Given the description of an element on the screen output the (x, y) to click on. 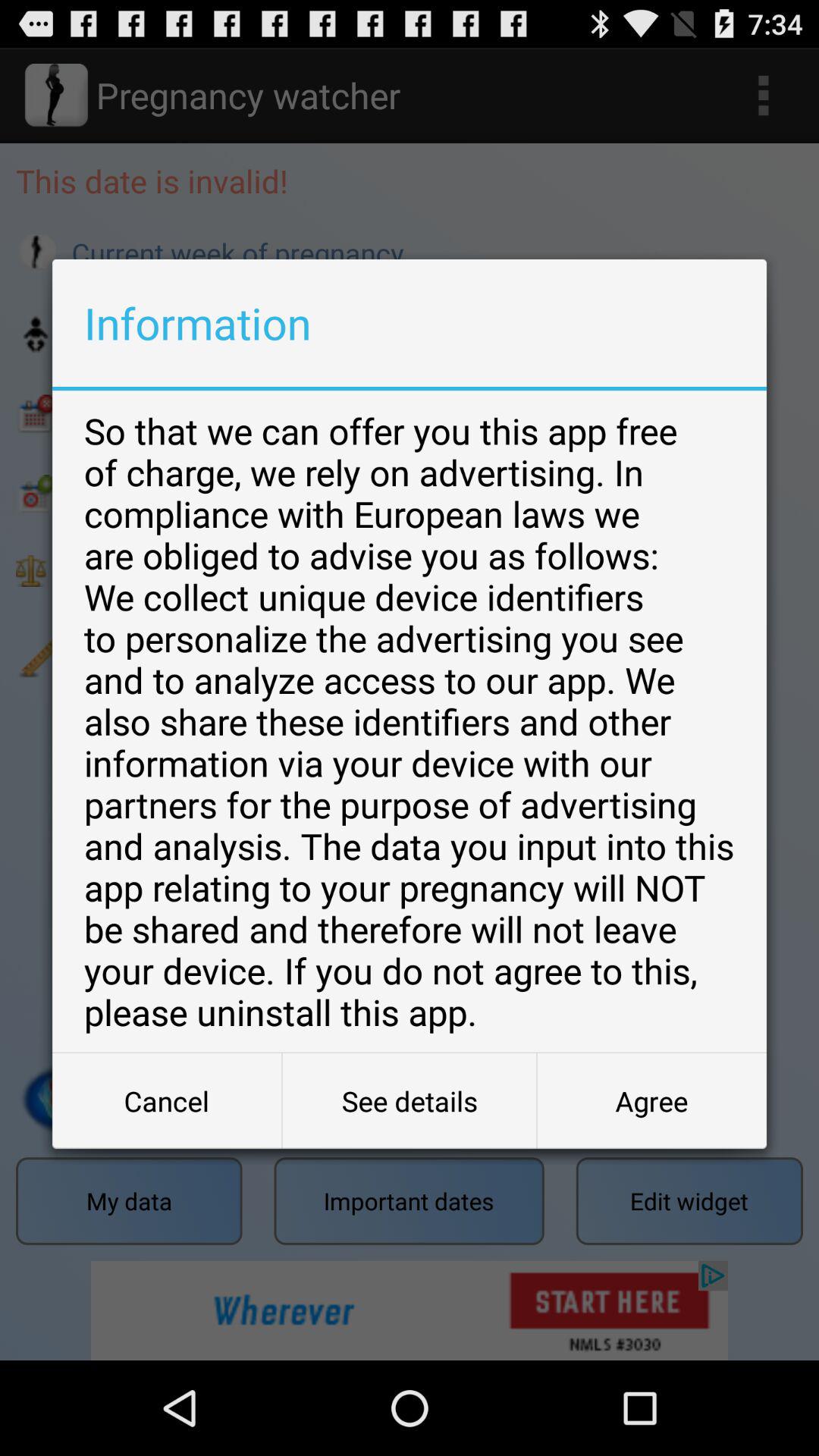
select the icon next to cancel item (409, 1100)
